Given the description of an element on the screen output the (x, y) to click on. 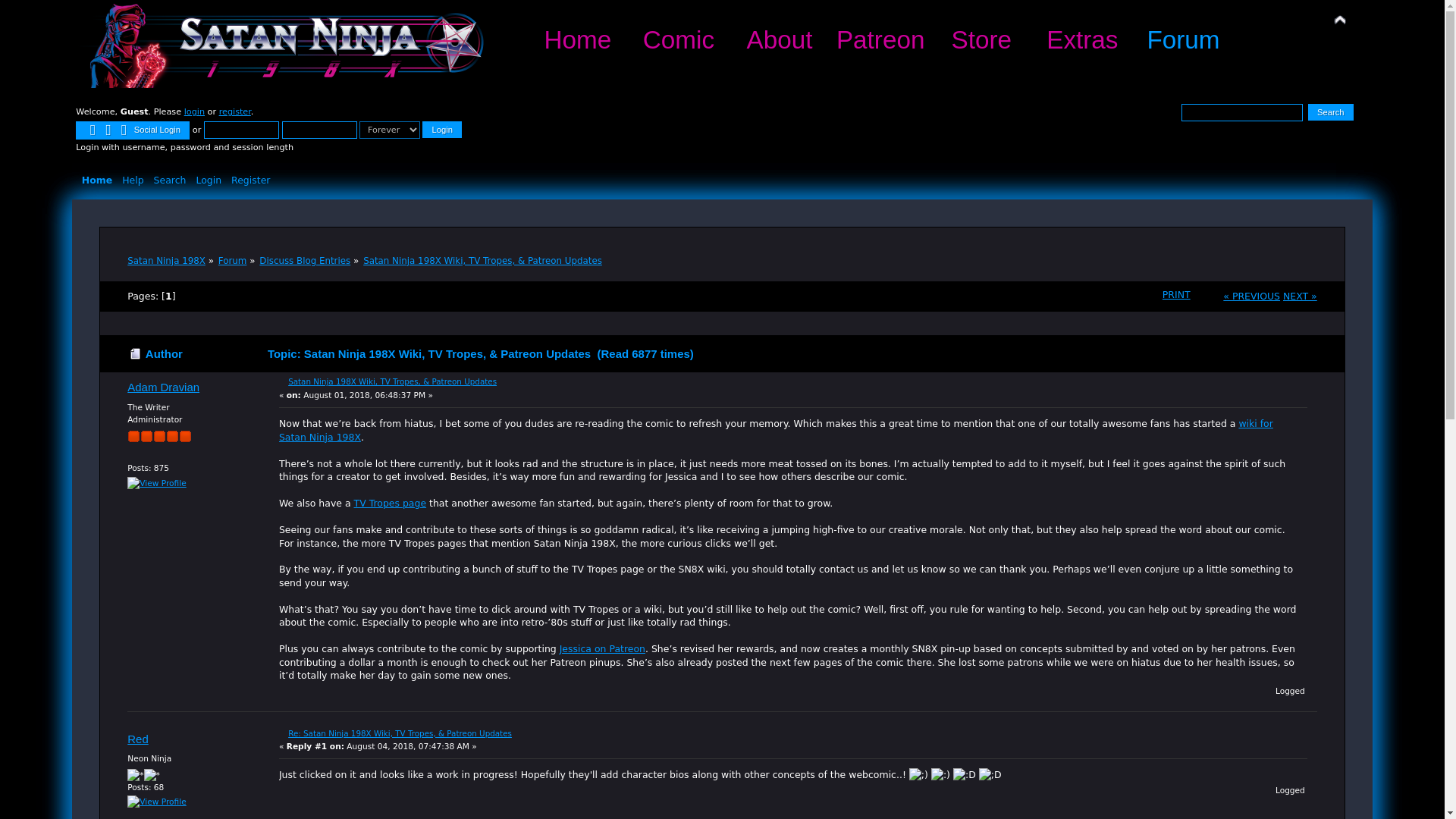
Grin (989, 774)
Login (210, 180)
Home (98, 180)
TV Tropes page (389, 502)
Help (134, 180)
Smiley (940, 774)
Search (172, 180)
About (779, 39)
Satan Ninja 198X (166, 260)
View the profile of Red (138, 738)
